Given the description of an element on the screen output the (x, y) to click on. 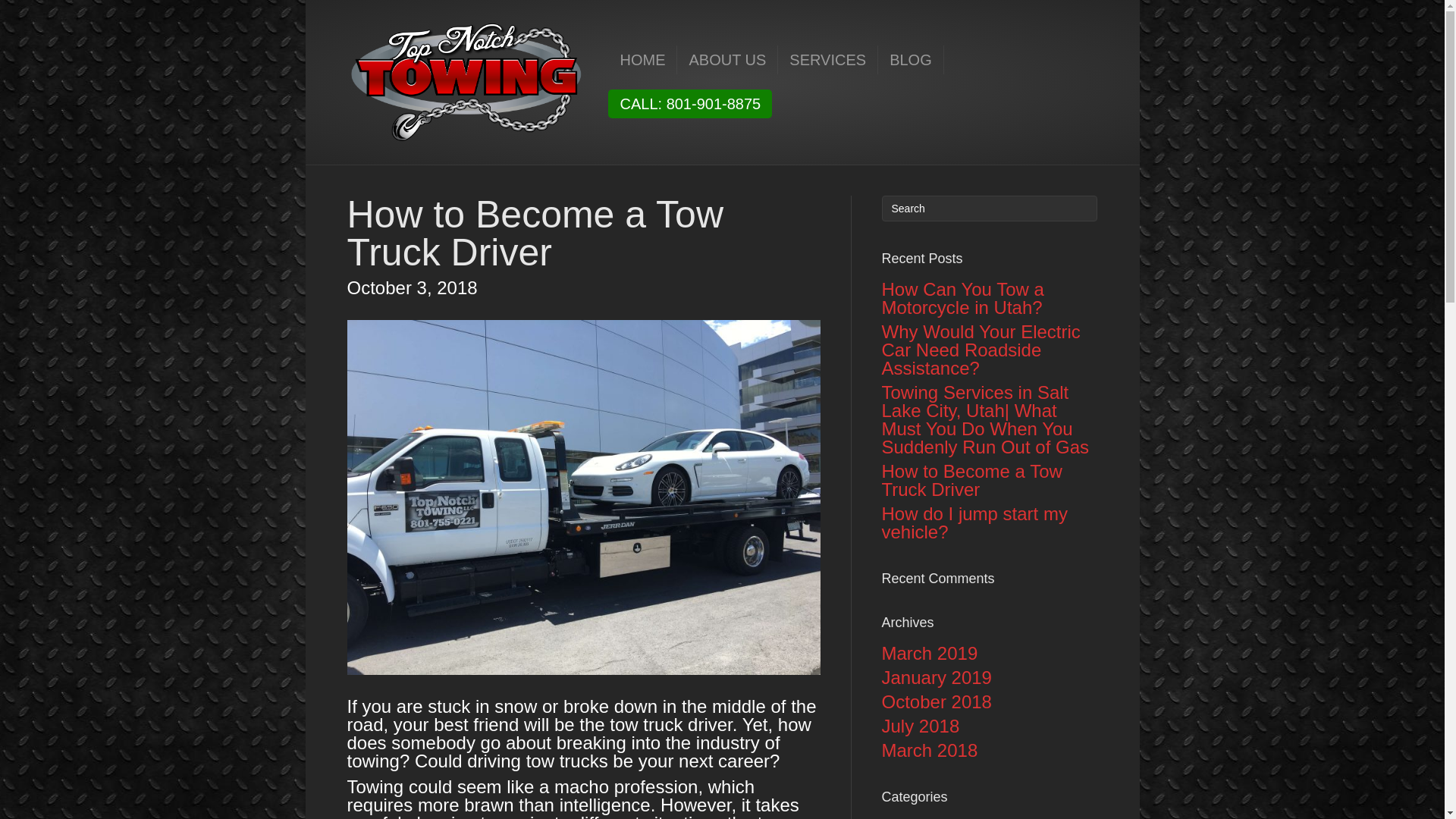
March 2018 (928, 750)
How to Become a Tow Truck Driver (970, 480)
January 2019 (935, 677)
October 2018 (935, 701)
How Can You Tow a Motorcycle in Utah? (961, 298)
SERVICES (827, 59)
CALL: 801-901-8875 (689, 103)
How do I jump start my vehicle? (973, 522)
Why Would Your Electric Car Need Roadside Assistance? (980, 349)
Type and press Enter to search. (988, 208)
